Given the description of an element on the screen output the (x, y) to click on. 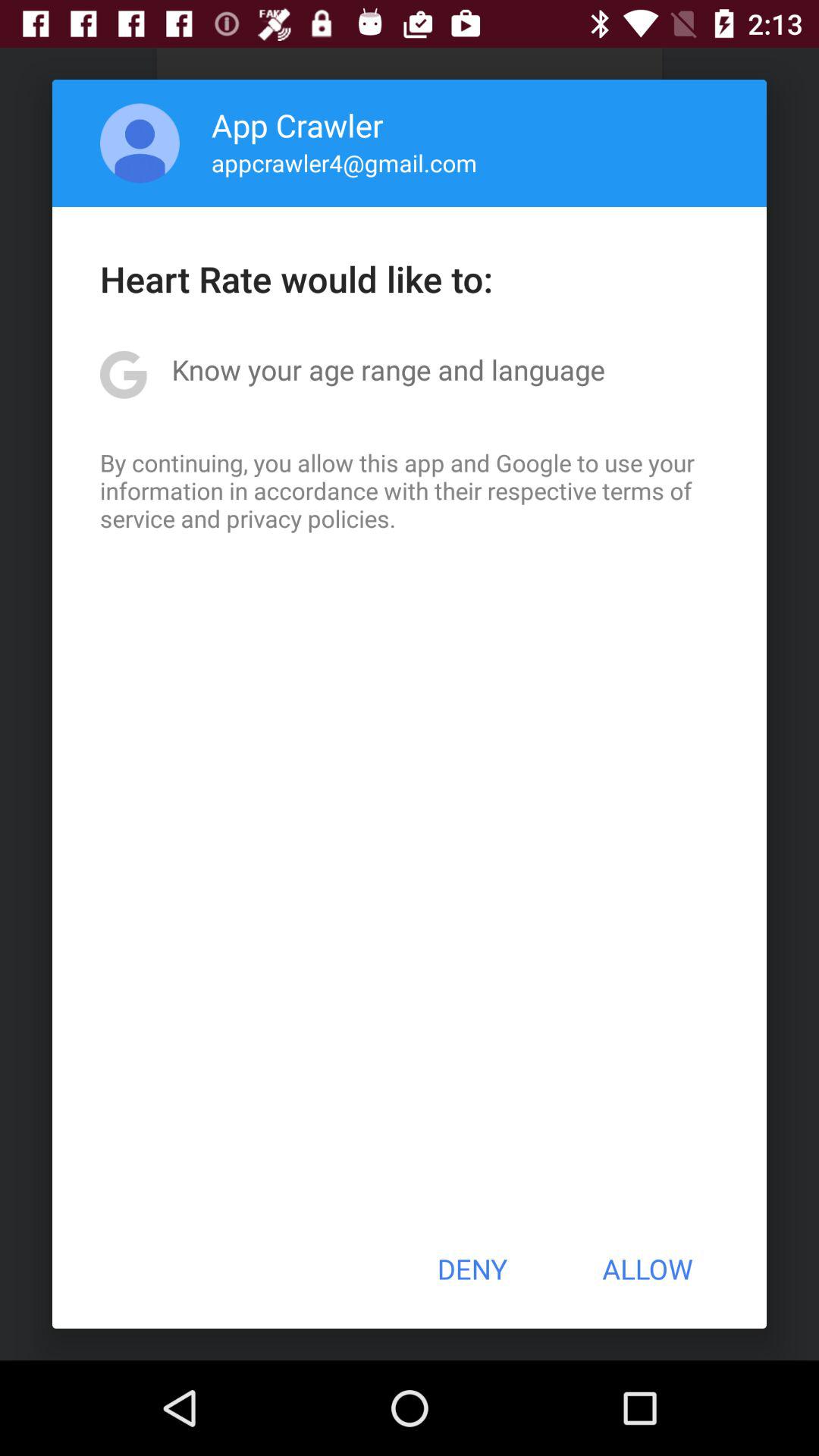
tap item above heart rate would (139, 143)
